Given the description of an element on the screen output the (x, y) to click on. 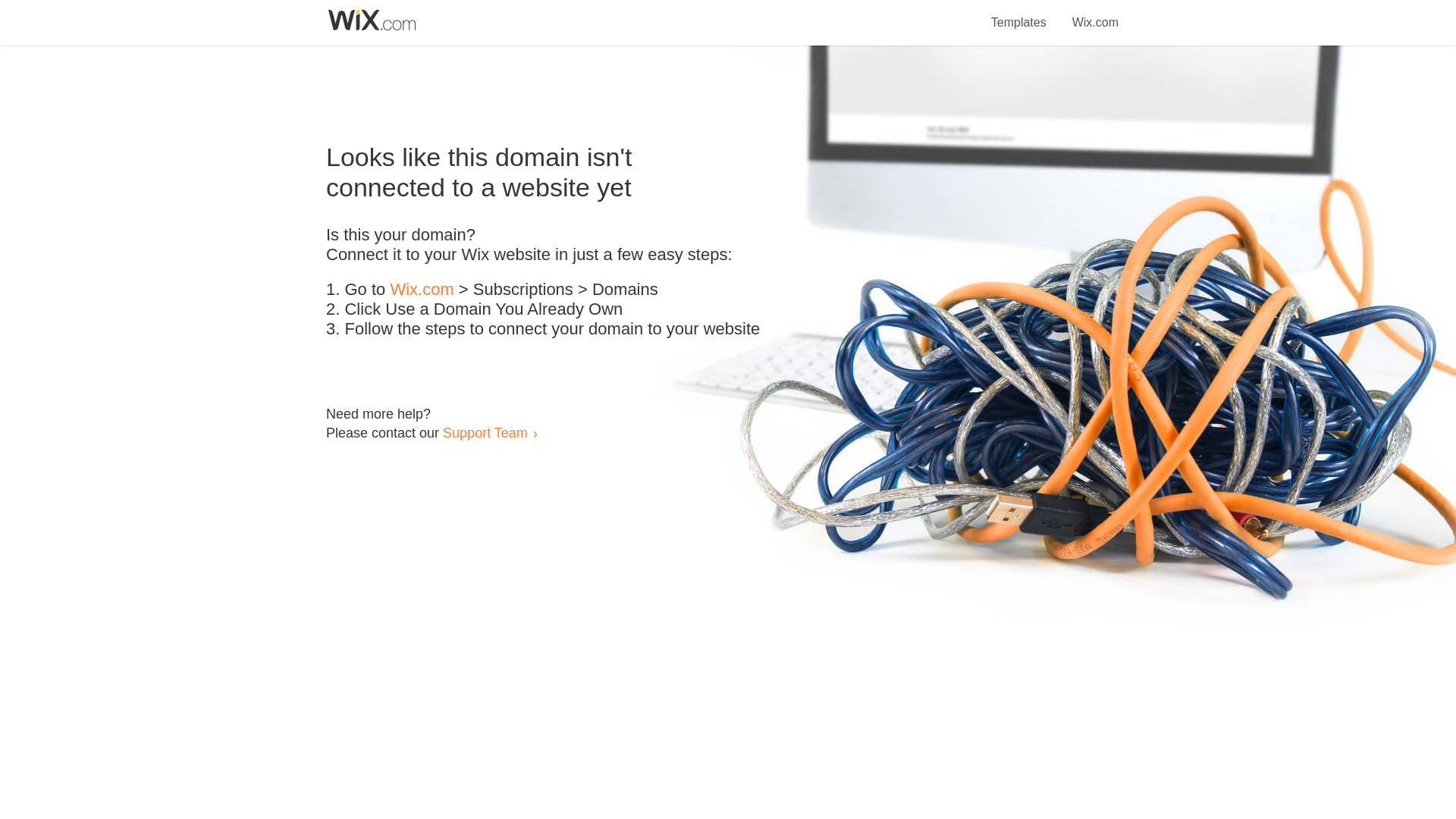
Wix.com (1095, 14)
Support Team (484, 432)
Templates (1018, 14)
Wix.com (421, 289)
